Given the description of an element on the screen output the (x, y) to click on. 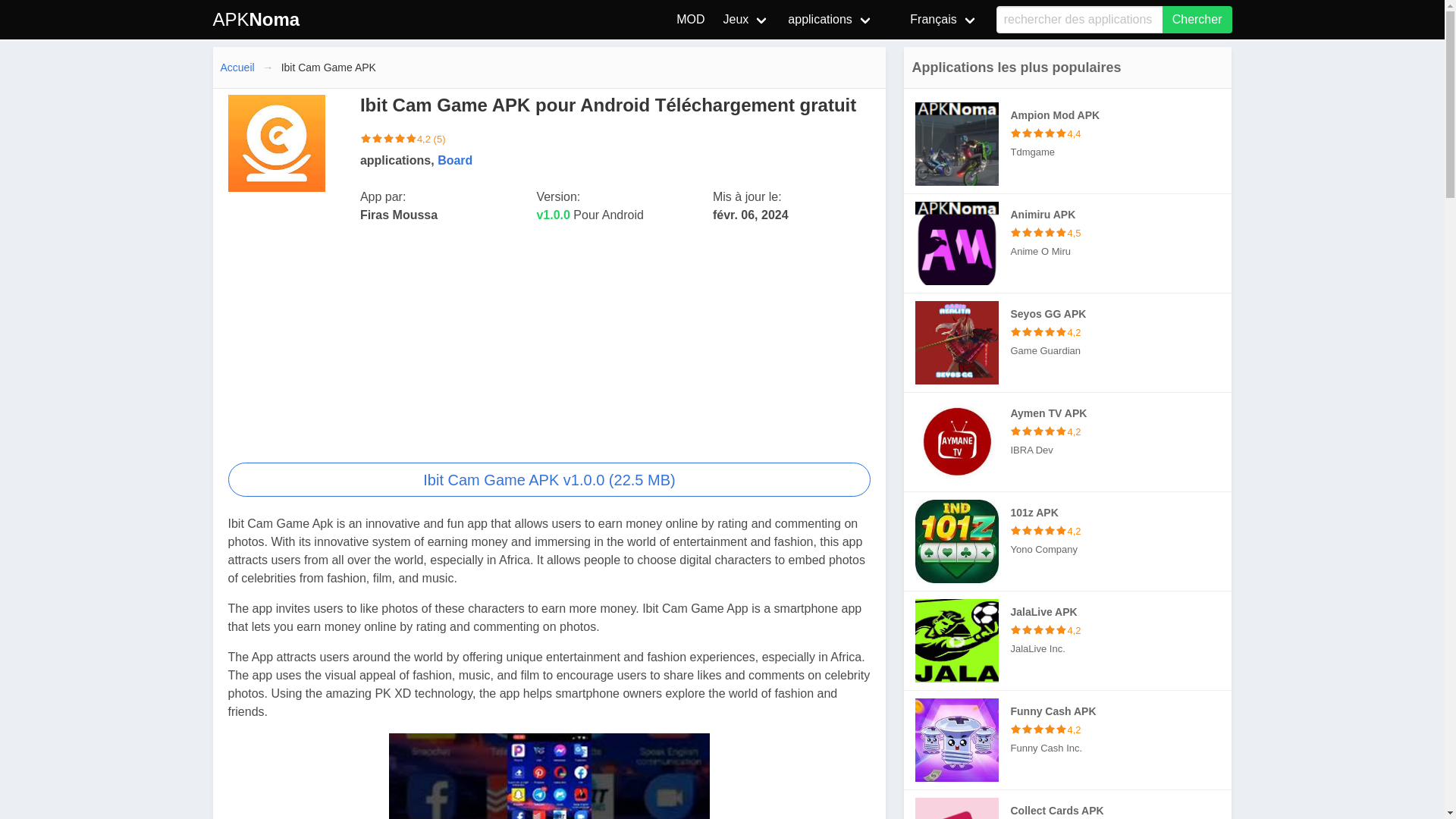
Jeux (746, 19)
Ampion Mod APK (956, 143)
Animiru APK APK (1067, 243)
APKNoma (255, 19)
Ampion Mod APK APK (1067, 144)
average rating 4,2 (387, 138)
Ampion Mod APK 4,4 (1120, 133)
MOD (689, 19)
applications (830, 19)
Ibit Cam Game APK icon (275, 143)
Animiru APK (956, 243)
Ibit Cam Game APK (548, 479)
average rating 4,4 (1038, 133)
